Given the description of an element on the screen output the (x, y) to click on. 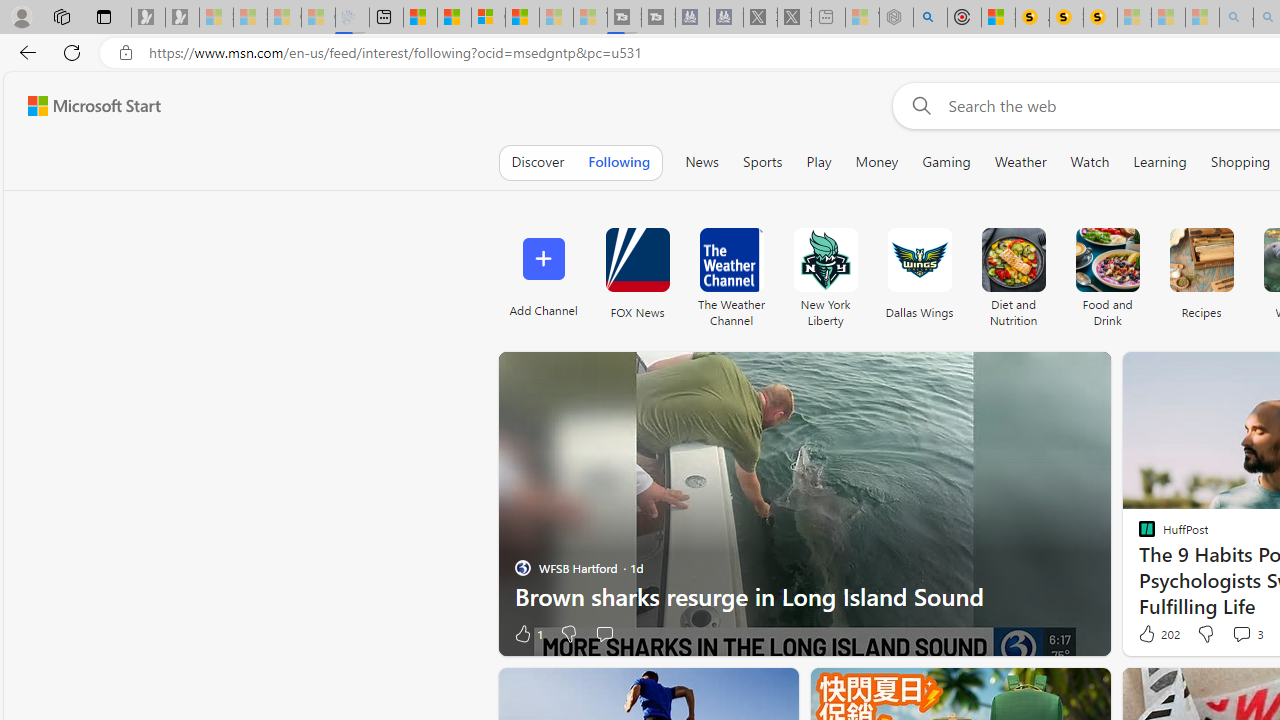
FOX News (637, 260)
The Weather Channel (731, 272)
Learning (1160, 161)
Sports (762, 161)
Shopping (1240, 161)
Michelle Starr, Senior Journalist at ScienceAlert (1100, 17)
